Given the description of an element on the screen output the (x, y) to click on. 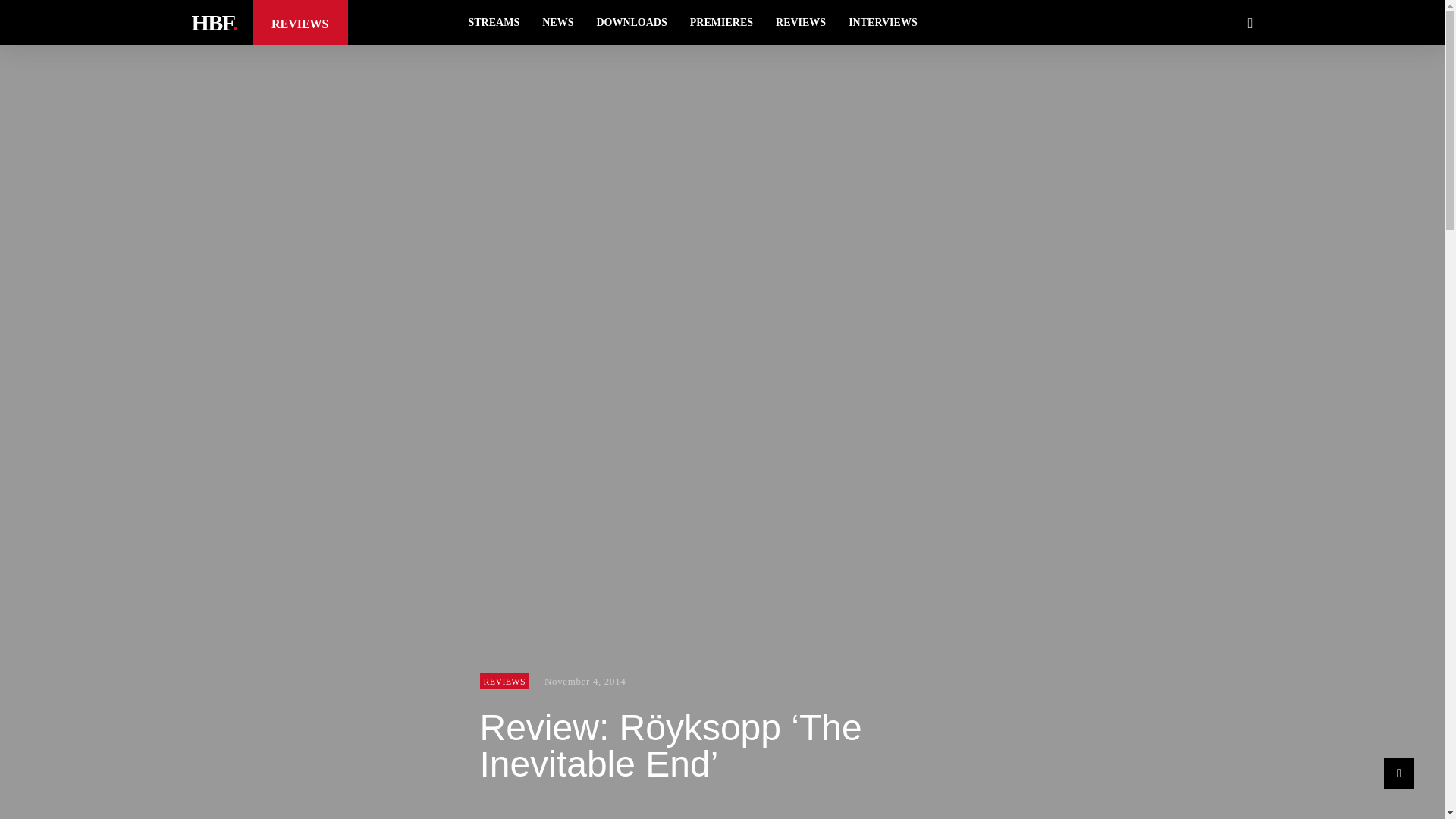
INTERVIEWS (882, 22)
REVIEWS (503, 681)
STREAMS (494, 22)
View all posts in  (503, 681)
HBF. (212, 22)
DOWNLOADS (631, 22)
REVIEWS (800, 22)
PREMIERES (721, 22)
NEWS (558, 22)
November 4, 2014 (585, 681)
